Given the description of an element on the screen output the (x, y) to click on. 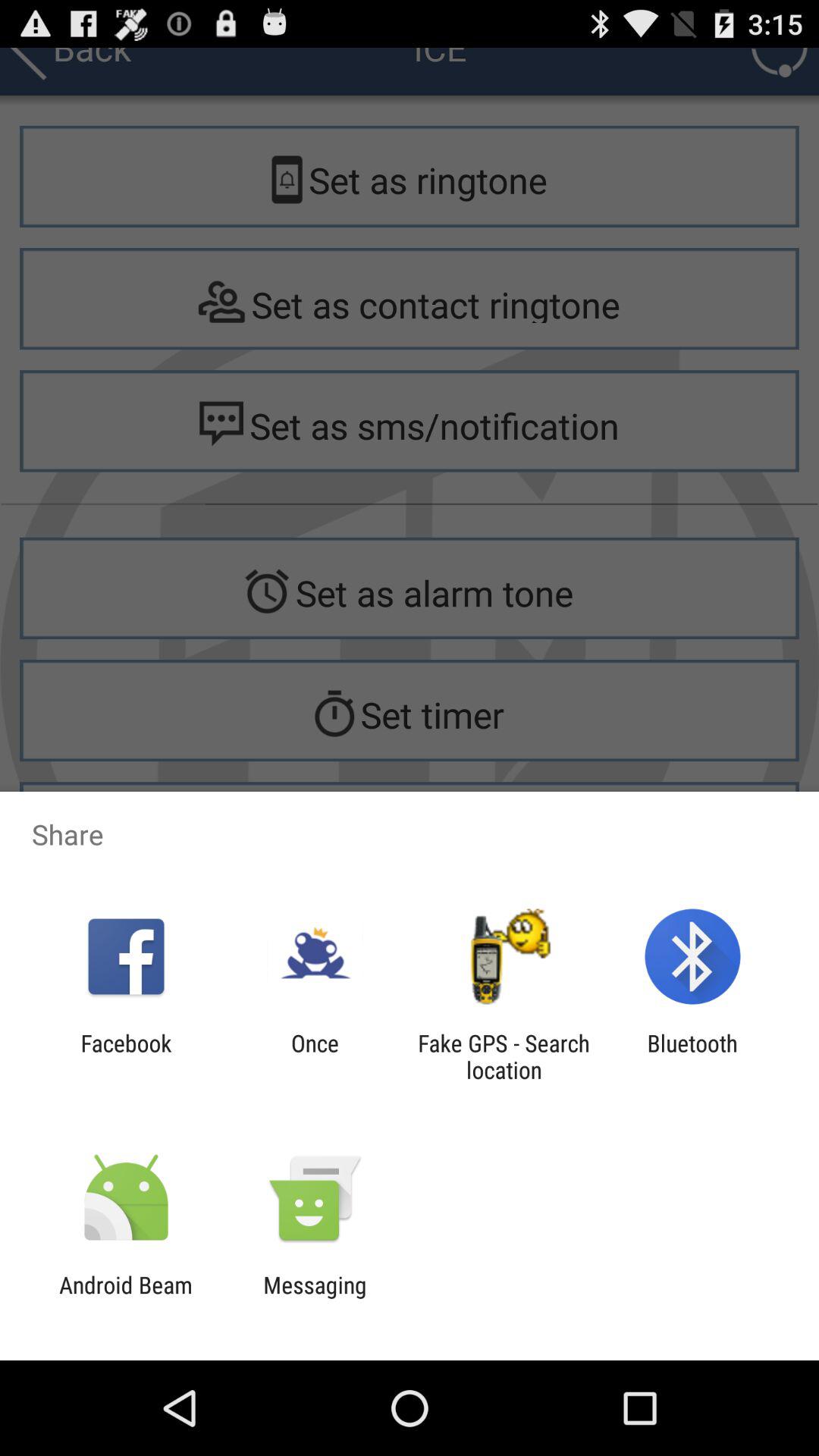
tap the item next to the fake gps search item (314, 1056)
